Given the description of an element on the screen output the (x, y) to click on. 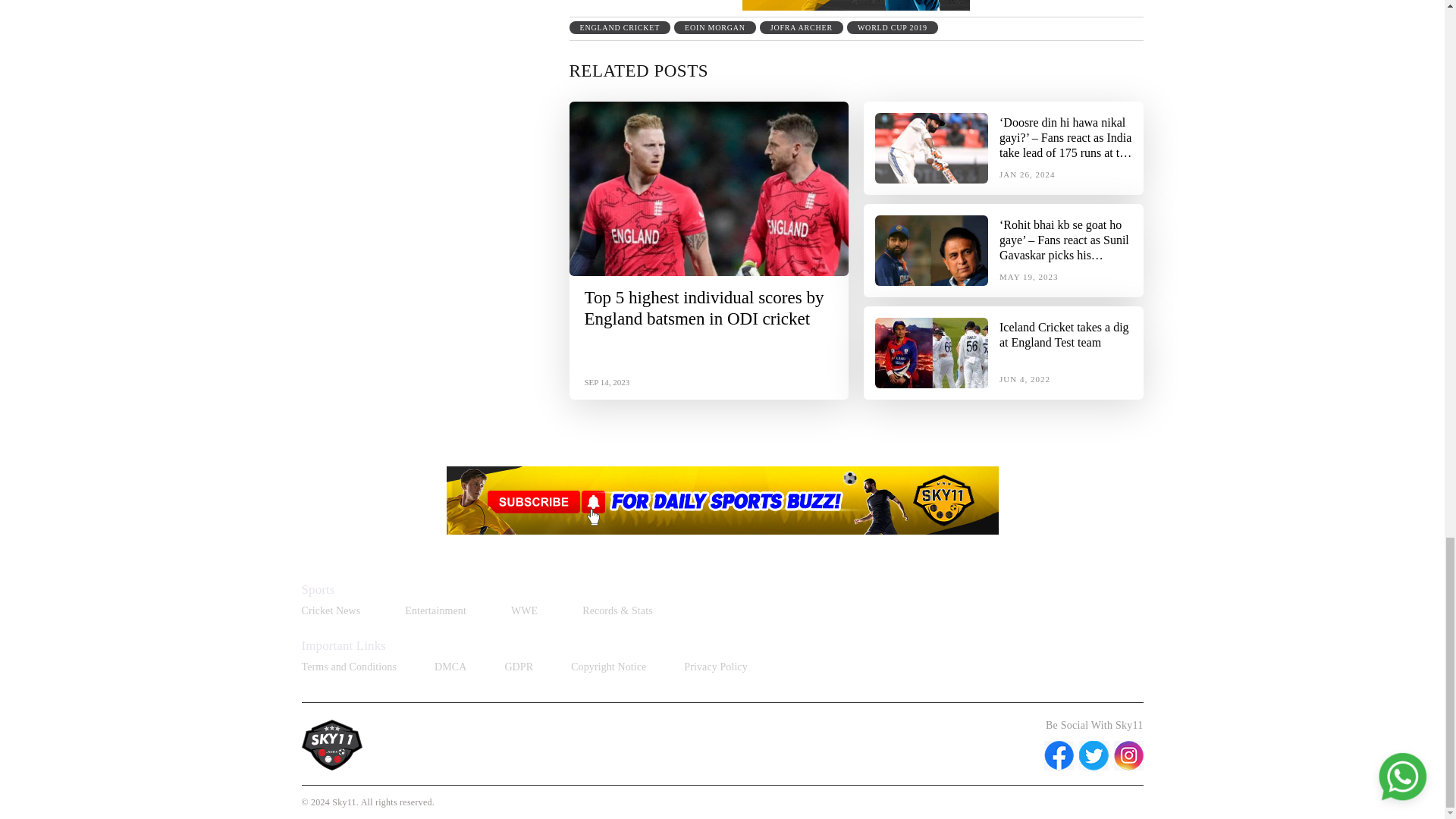
JOFRA ARCHER (801, 27)
WORLD CUP 2019 (892, 27)
EOIN MORGAN (714, 27)
ENGLAND CRICKET (619, 27)
